Given the description of an element on the screen output the (x, y) to click on. 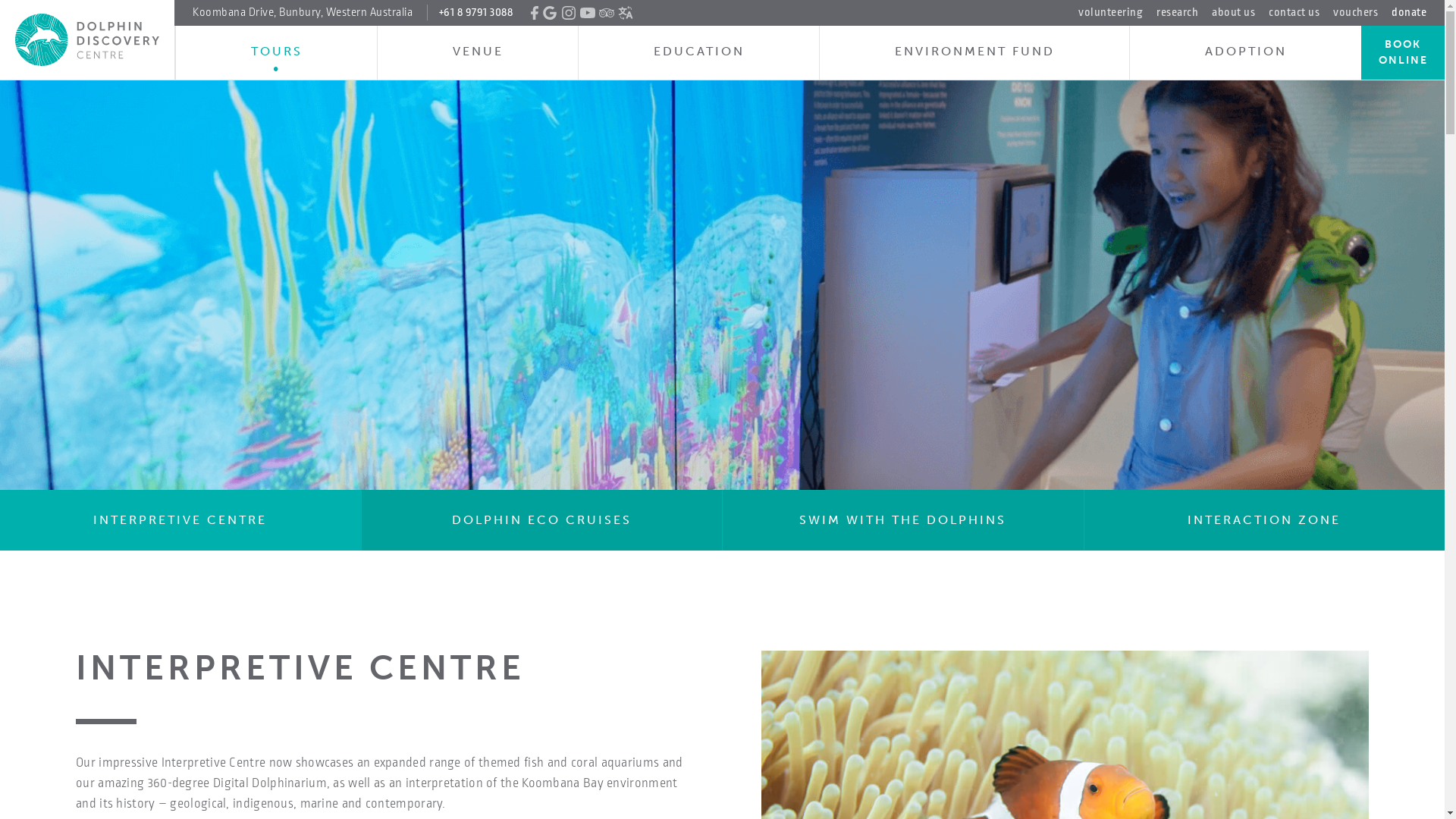
INTERPRETIVE CENTRE Element type: text (180, 519)
TOURS Element type: text (275, 52)
ENVIRONMENT FUND Element type: text (974, 52)
donate Element type: text (1408, 12)
EDUCATION Element type: text (698, 52)
contact us Element type: text (1293, 12)
INTERACTION ZONE Element type: text (1263, 519)
Tripadvisor Page for Dolphin Discovery Centre Element type: hover (606, 12)
about us Element type: text (1233, 12)
Facebook Page for Dolphin Discovery Centre Element type: hover (534, 12)
vouchers Element type: text (1355, 12)
Languages (Coming Soon) for Dolphin Discovery Centre Element type: hover (625, 12)
+61 8 9791 3088 Element type: text (469, 12)
volunteering Element type: text (1110, 12)
Instagram Page for Dolphin Discovery Centre Element type: hover (568, 12)
VENUE Element type: text (477, 52)
ADOPTION Element type: text (1245, 52)
BOOK ONLINE Element type: text (1402, 52)
research Element type: text (1177, 12)
SWIM WITH THE DOLPHINS Element type: text (902, 519)
Google Maps Location for Dolphin Discovery Centre Element type: hover (549, 12)
Dolphin Discovery Center on YouTube Element type: hover (587, 12)
Dolphin Discovery Centre - Homepage Element type: hover (87, 39)
DOLPHIN ECO CRUISES Element type: text (541, 519)
